Given the description of an element on the screen output the (x, y) to click on. 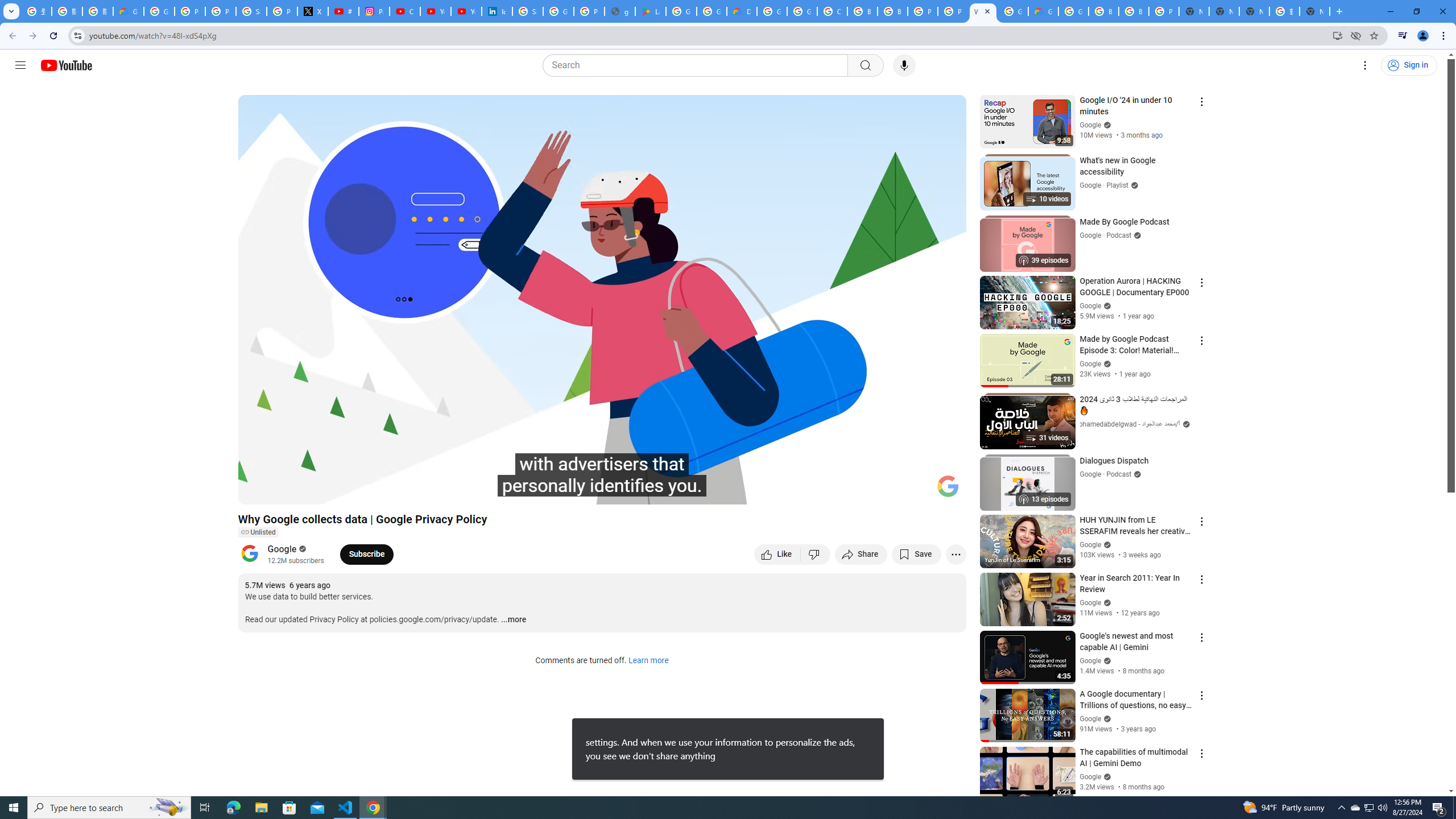
#nbabasketballhighlights - YouTube (343, 11)
Last Shelter: Survival - Apps on Google Play (650, 11)
Install YouTube (1336, 35)
Learn more (647, 661)
Browse Chrome as a guest - Computer - Google Chrome Help (1103, 11)
